Given the description of an element on the screen output the (x, y) to click on. 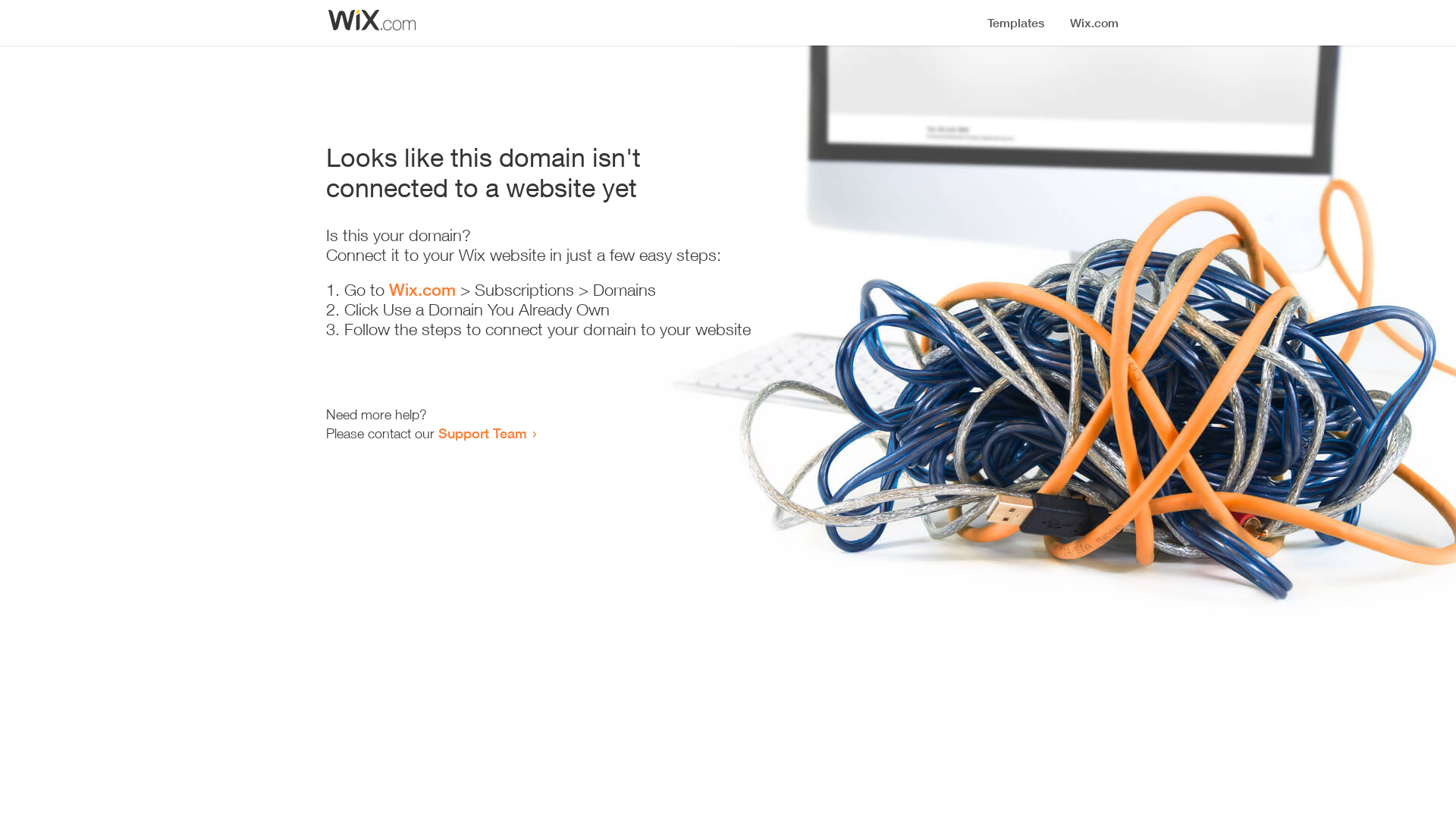
Wix.com Element type: text (422, 289)
Support Team Element type: text (482, 432)
